Given the description of an element on the screen output the (x, y) to click on. 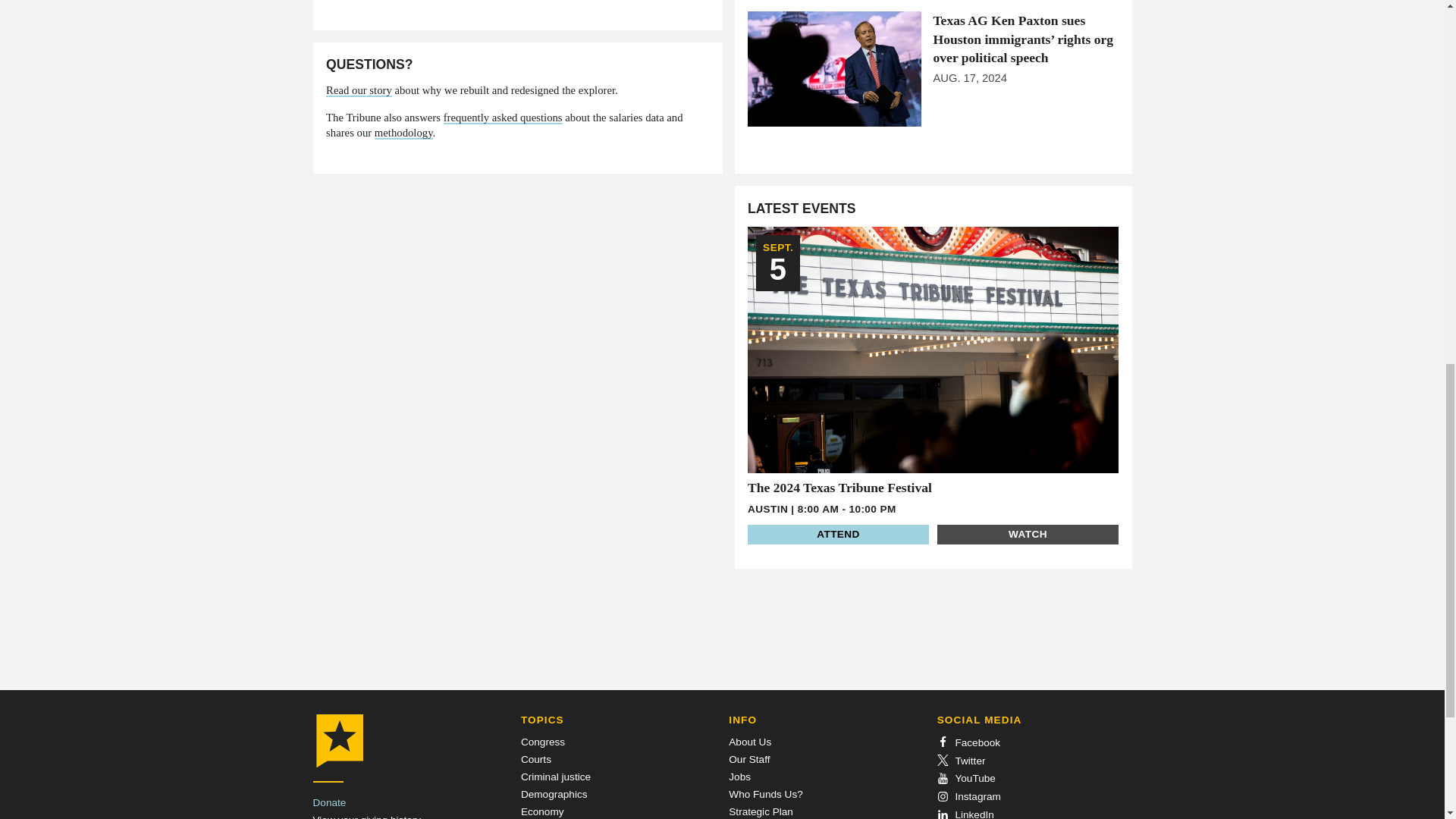
Facebook (968, 742)
Who Funds Us? (765, 794)
frequently asked questions (503, 117)
About Us (750, 741)
The 2024 Texas Tribune Festival (839, 487)
ATTEND (838, 534)
View your giving history (366, 816)
Donate (329, 802)
Strategic Plan (761, 811)
WATCH (1027, 534)
